Given the description of an element on the screen output the (x, y) to click on. 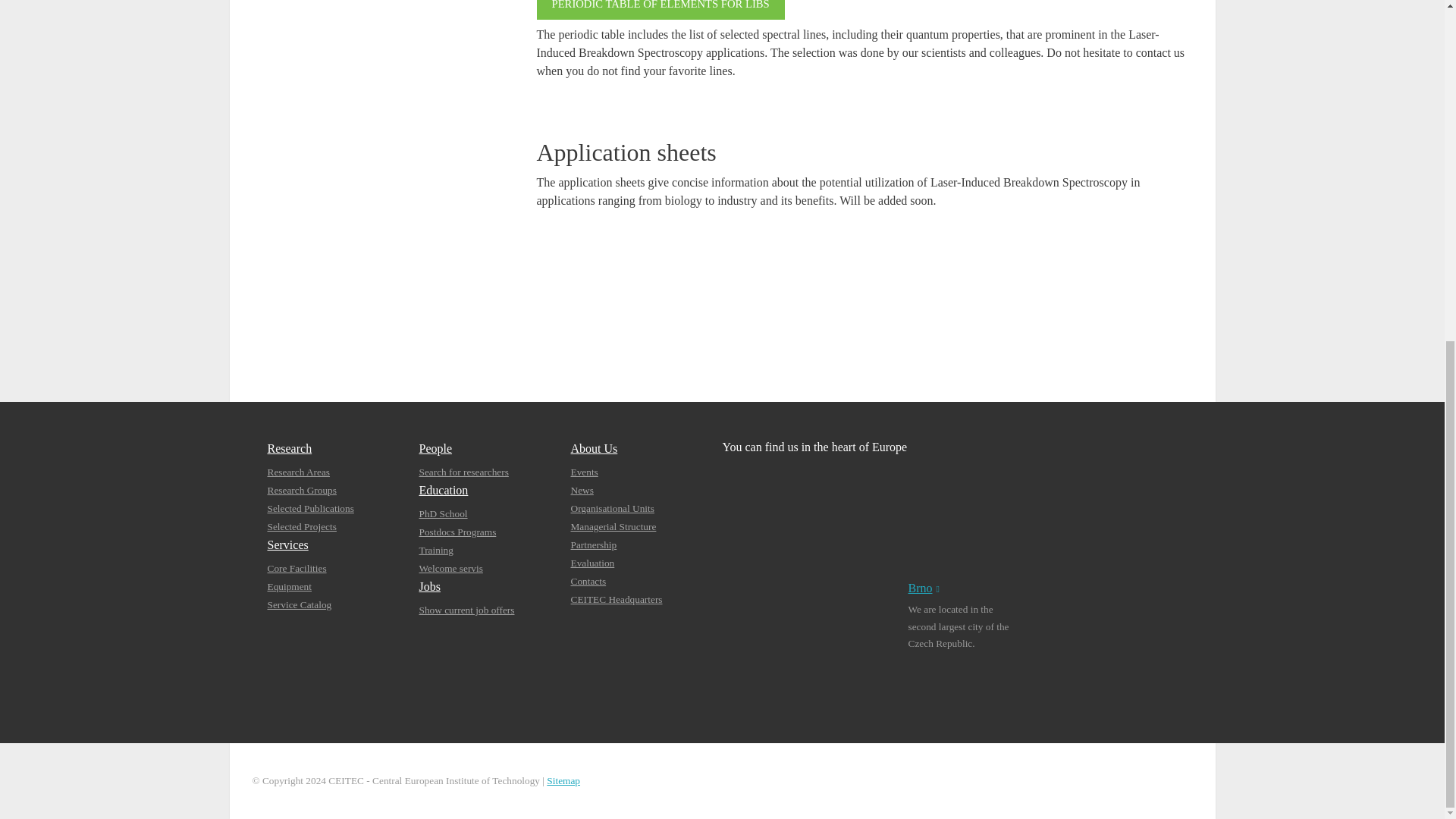
Service Catalog (298, 604)
Selected Projects (301, 526)
Research Areas (298, 471)
Search for researchers (463, 471)
Education (443, 490)
People (435, 448)
Services (286, 544)
PERIODIC TABLE OF ELEMENTS FOR LIBS (660, 10)
Selected Publications (309, 508)
Equipment (288, 586)
Research Groups (301, 490)
Core Facilities (296, 568)
Research (288, 448)
